Given the description of an element on the screen output the (x, y) to click on. 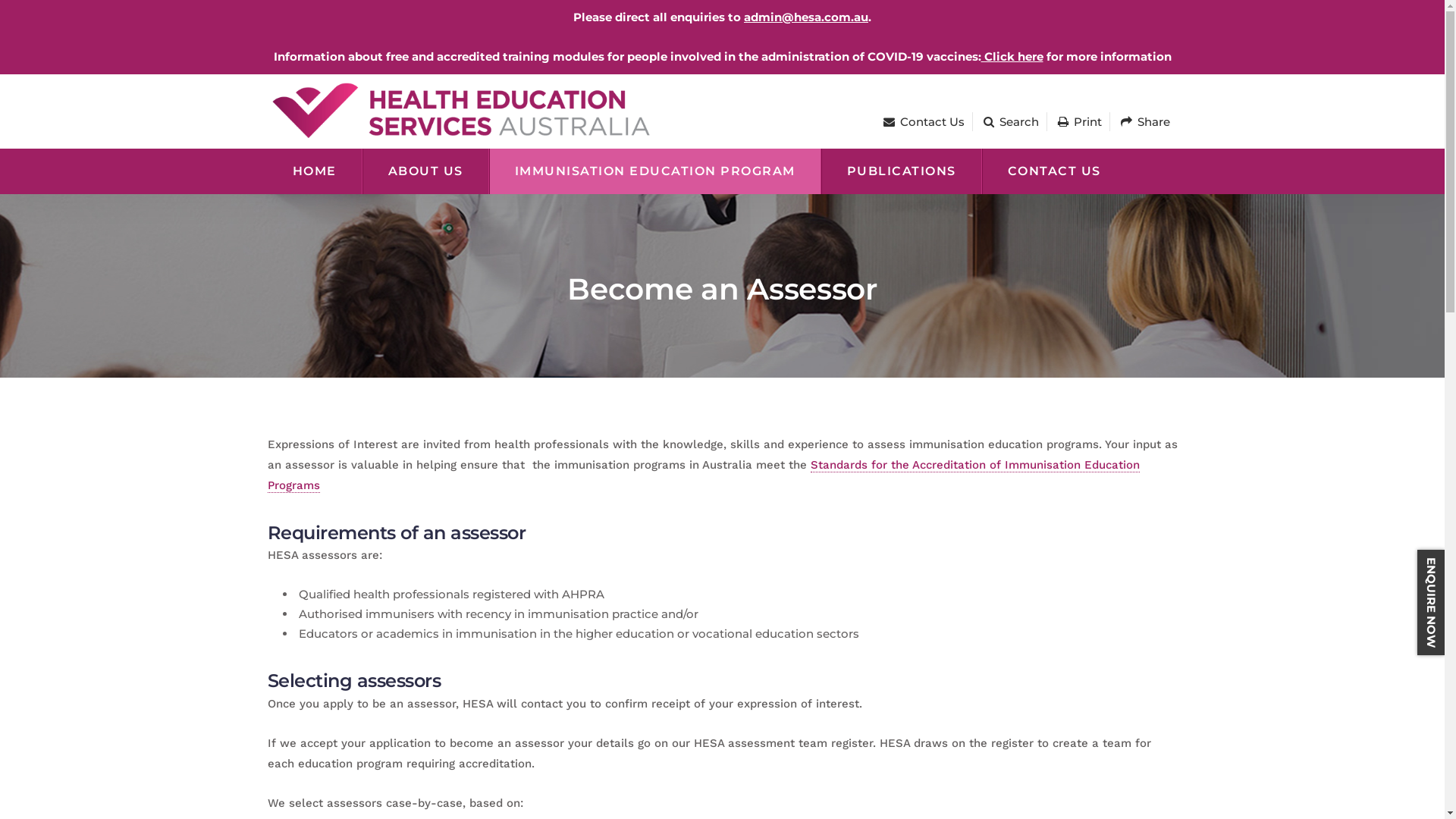
HOME Element type: text (313, 171)
PUBLICATIONS Element type: text (900, 171)
CONTACT US Element type: text (1053, 171)
IMMUNISATION EDUCATION PROGRAM Element type: text (654, 171)
Click here Element type: text (1012, 56)
ABOUT US Element type: text (425, 171)
Share Element type: text (1145, 121)
Contact Us Element type: text (922, 121)
Search Element type: text (1010, 121)
admin@hesa.com.au Element type: text (805, 16)
Print Element type: text (1079, 121)
